Given the description of an element on the screen output the (x, y) to click on. 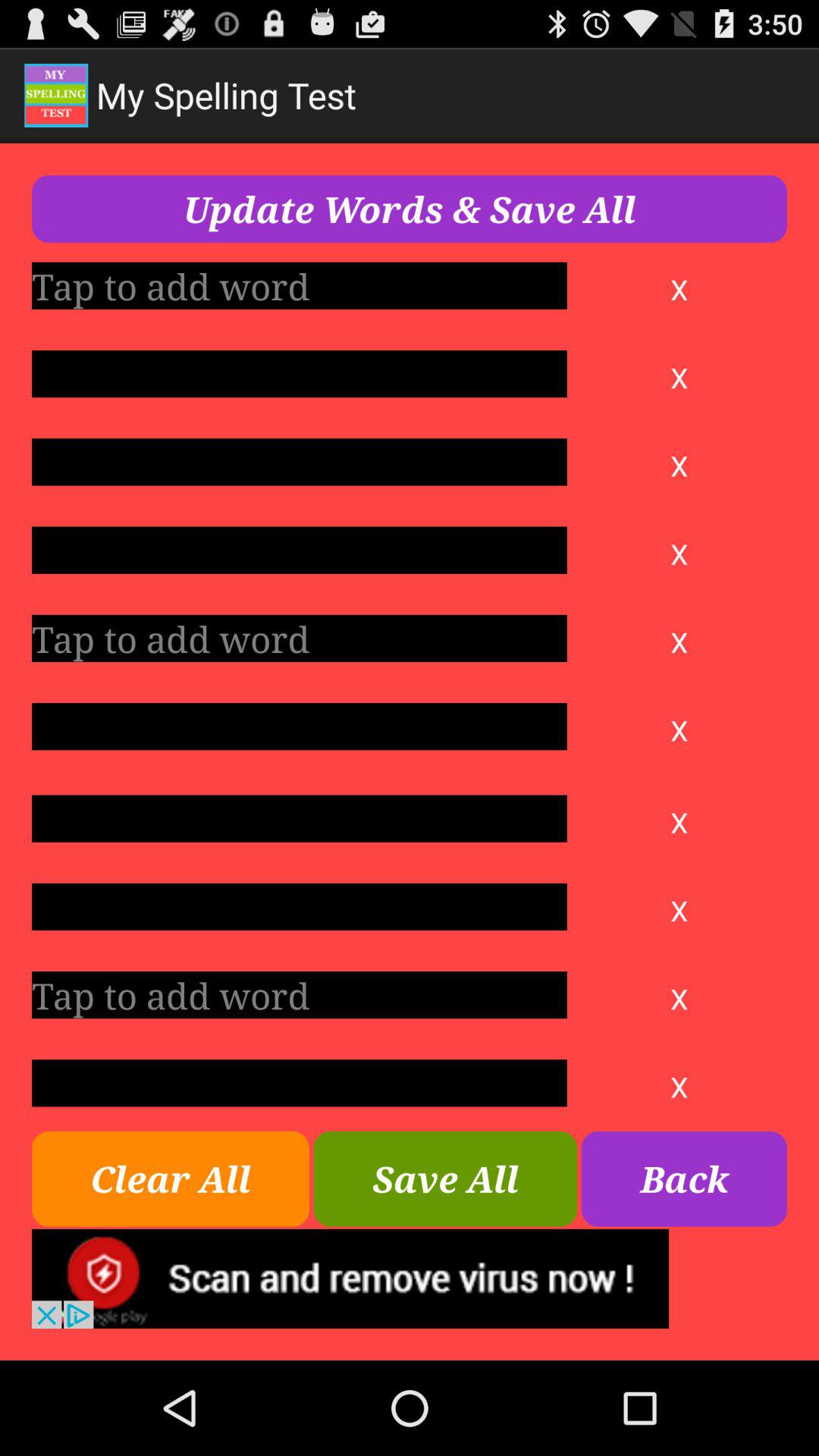
go to search box (299, 726)
